Given the description of an element on the screen output the (x, y) to click on. 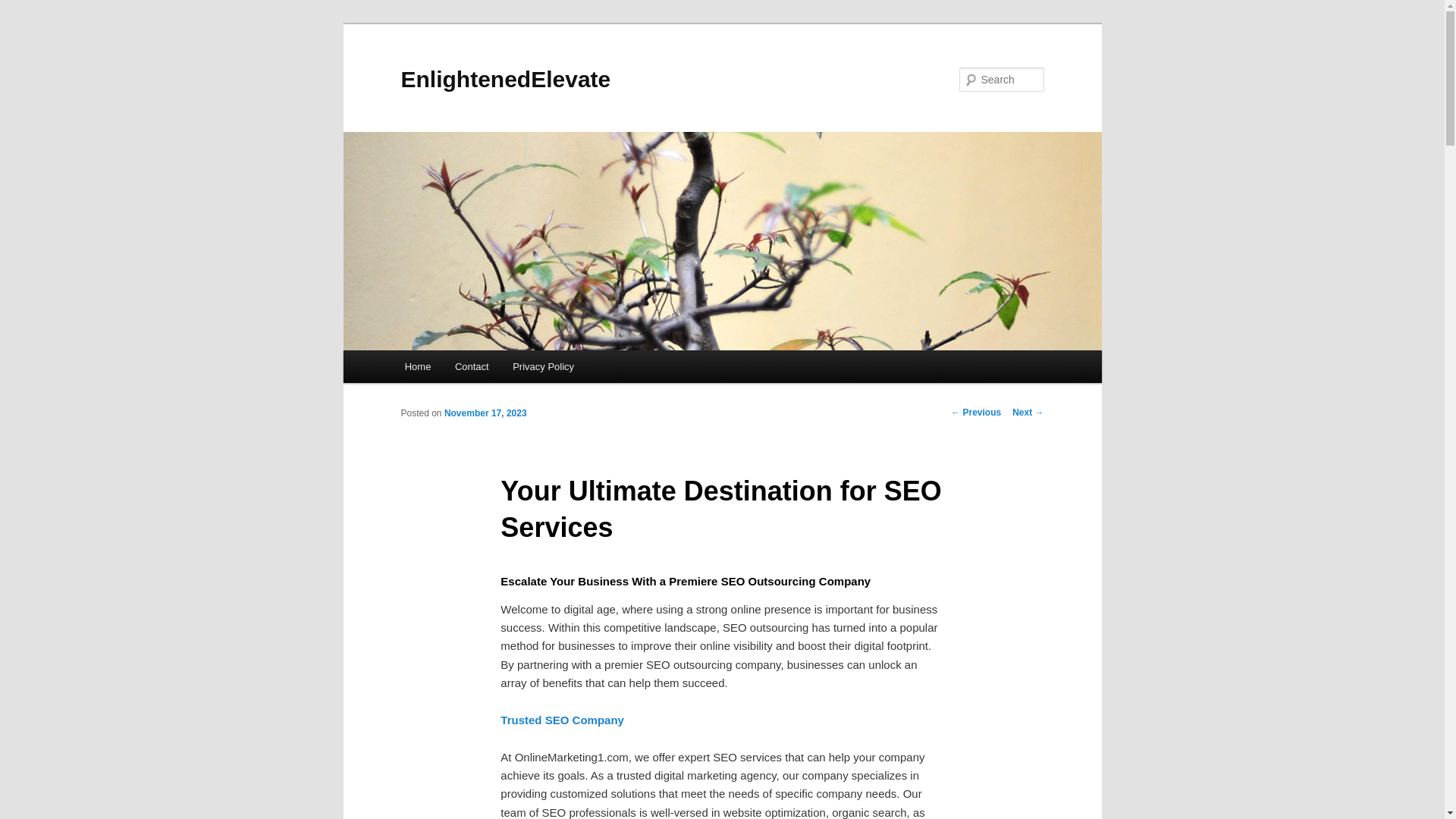
Trusted SEO Company (562, 719)
6:56 pm (485, 412)
Contact (471, 366)
Home (417, 366)
Search (24, 8)
Privacy Policy (542, 366)
EnlightenedElevate (505, 78)
November 17, 2023 (485, 412)
